Given the description of an element on the screen output the (x, y) to click on. 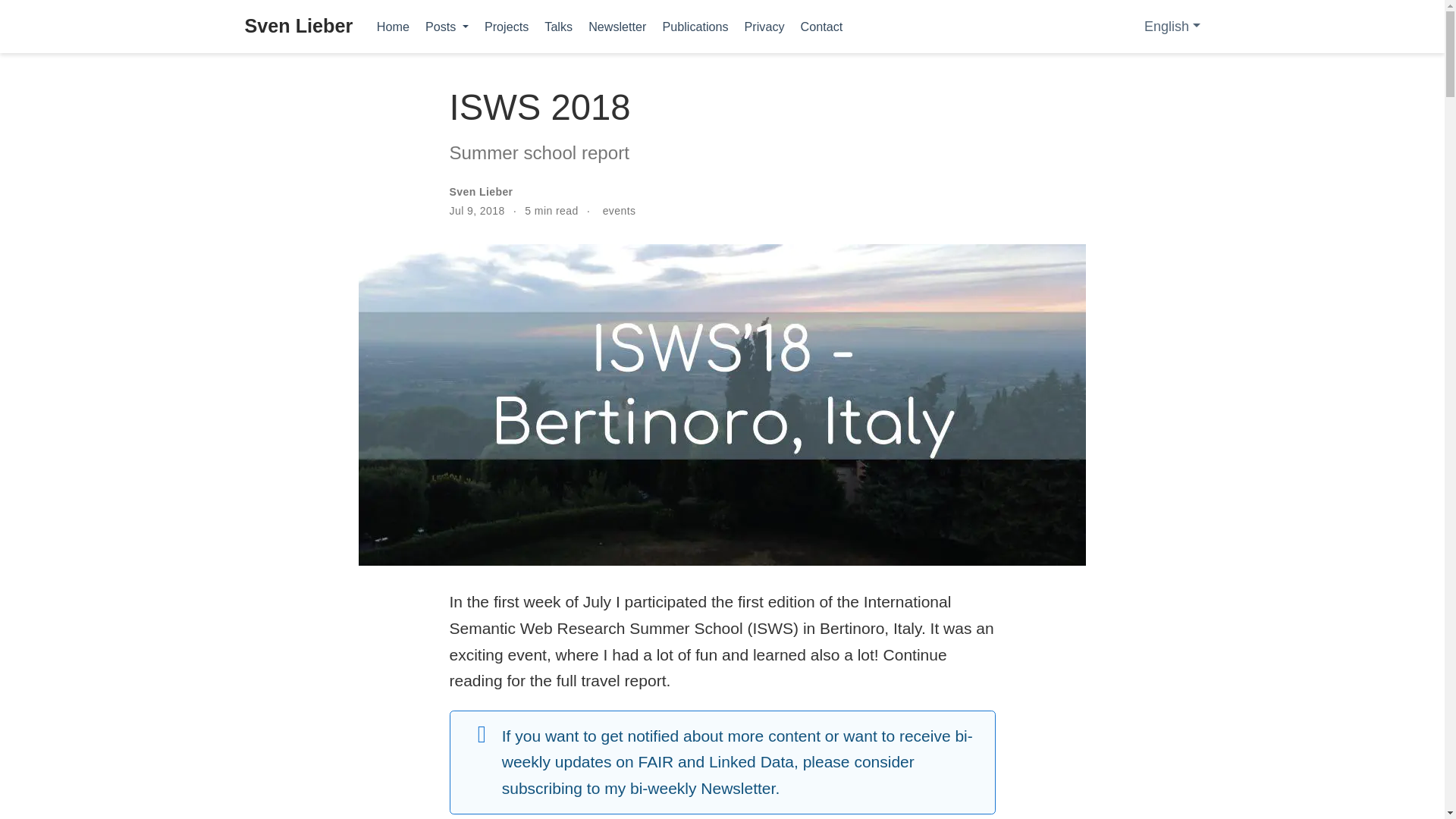
Privacy (764, 25)
Projects (505, 25)
events (619, 210)
Sven Lieber (298, 26)
Posts (446, 25)
Home (392, 25)
Talks (558, 25)
Contact (821, 25)
Newsletter (616, 25)
Publications (694, 25)
English (1169, 27)
